Given the description of an element on the screen output the (x, y) to click on. 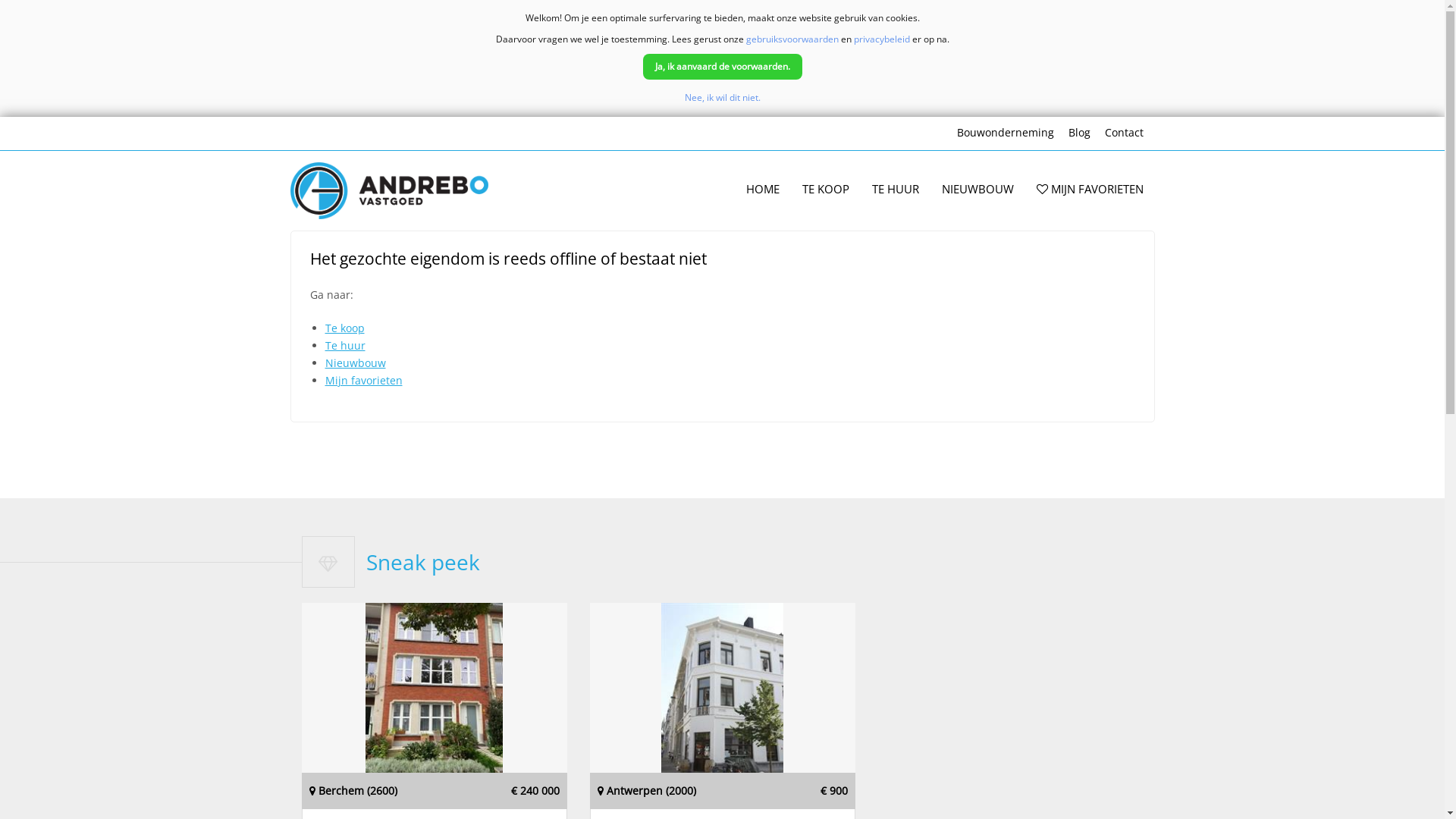
Te koop Element type: text (344, 327)
Blog Element type: text (1078, 133)
privacybeleid Element type: text (881, 38)
TE HUUR Element type: text (894, 190)
TE KOOP Element type: text (824, 190)
Ja, ik aanvaard de voorwaarden. Element type: text (722, 66)
Te huur Element type: text (344, 345)
Mijn favorieten Element type: text (362, 380)
Nieuwbouw Element type: text (354, 362)
Bouwonderneming Element type: text (1005, 133)
NIEUWBOUW Element type: text (976, 190)
Nee, ik wil dit niet. Element type: text (721, 97)
MIJN FAVORIETEN Element type: text (1089, 190)
HOME Element type: text (762, 190)
gebruiksvoorwaarden Element type: text (792, 38)
Contact Element type: text (1123, 133)
